Given the description of an element on the screen output the (x, y) to click on. 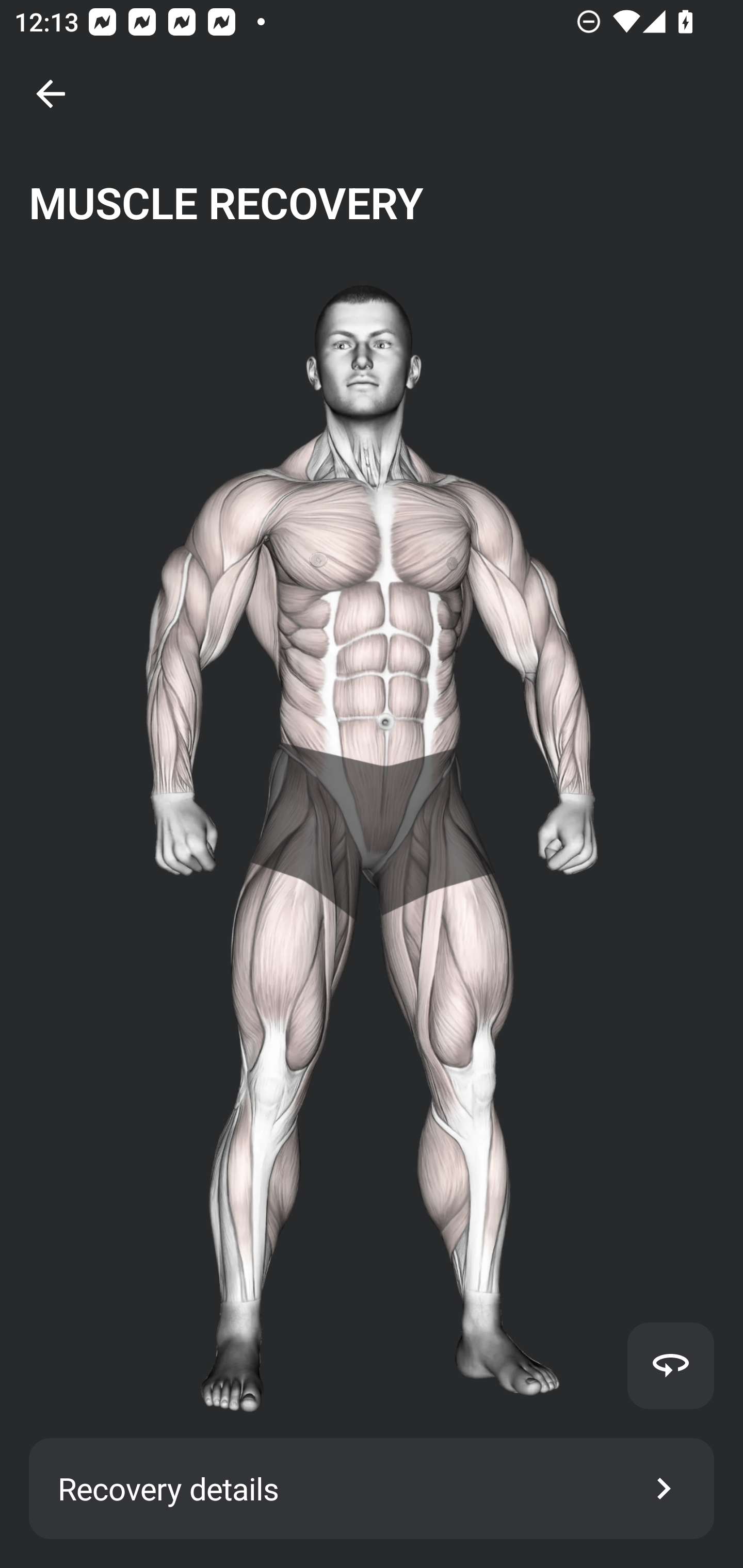
Back Icon (50, 93)
Turn icon (670, 1365)
Recovery details Next icon (371, 1488)
